Given the description of an element on the screen output the (x, y) to click on. 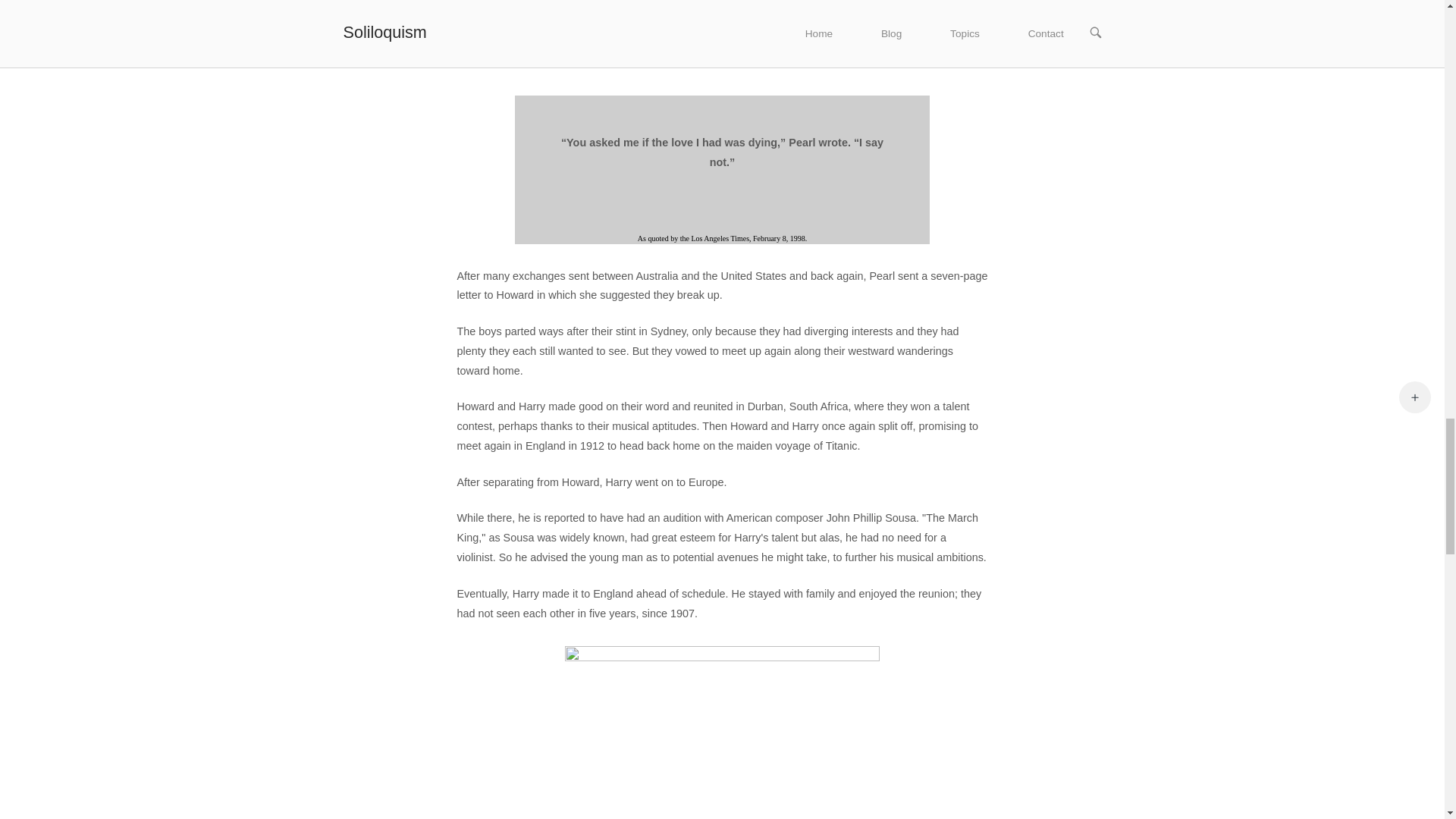
As quoted by the Los Angeles Times, February 8, 1998. (721, 238)
